Given the description of an element on the screen output the (x, y) to click on. 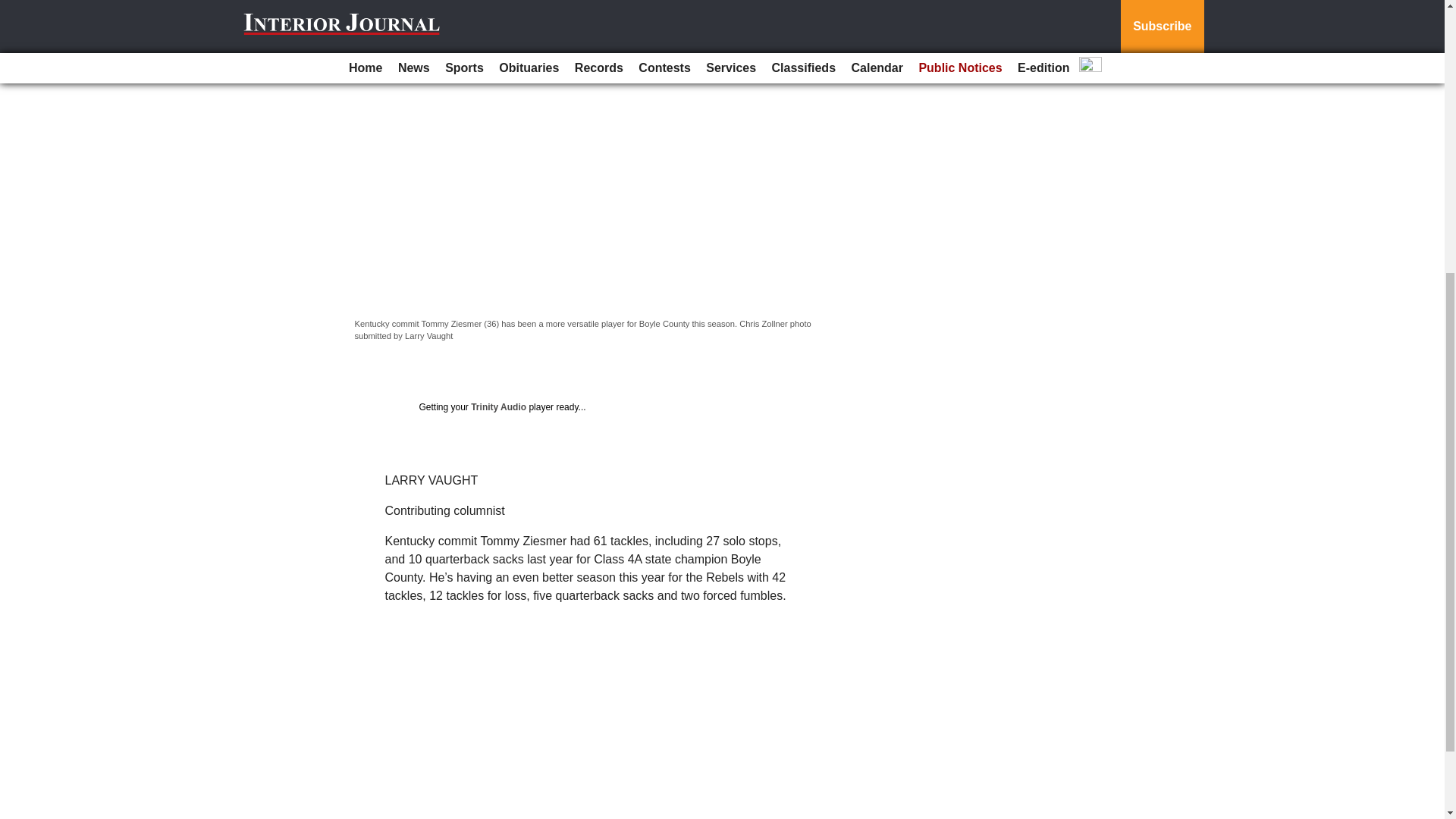
Trinity Audio (497, 407)
